Given the description of an element on the screen output the (x, y) to click on. 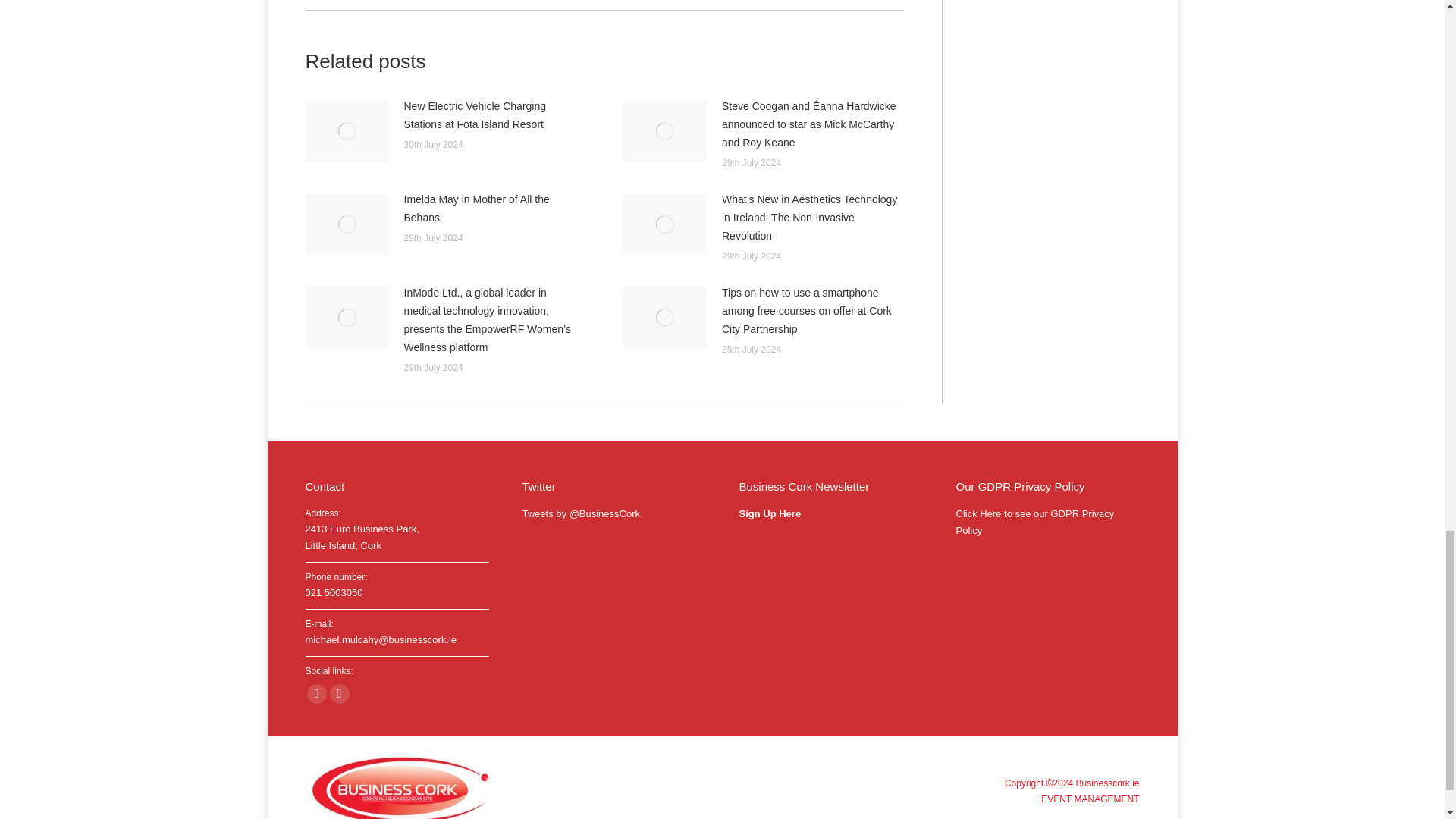
New Electric Vehicle Charging Stations at Fota Island Resort (494, 115)
Facebook page opens in new window (315, 693)
Imelda May in Mother of All the Behans (494, 208)
X page opens in new window (339, 693)
